Given the description of an element on the screen output the (x, y) to click on. 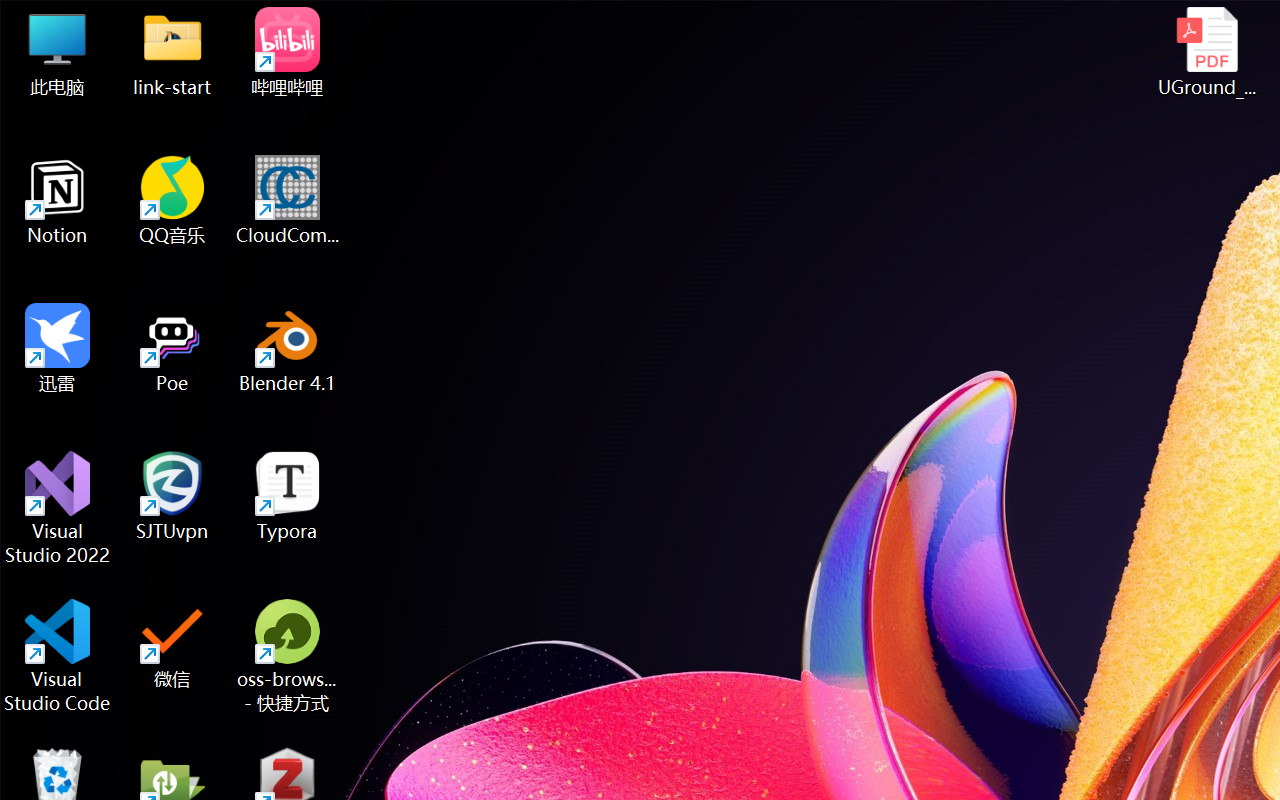
Typora (287, 496)
Blender 4.1 (287, 348)
SJTUvpn (172, 496)
Visual Studio 2022 (57, 508)
Poe (172, 348)
Visual Studio Code (57, 656)
Notion (57, 200)
CloudCompare (287, 200)
UGround_paper.pdf (1206, 52)
